Given the description of an element on the screen output the (x, y) to click on. 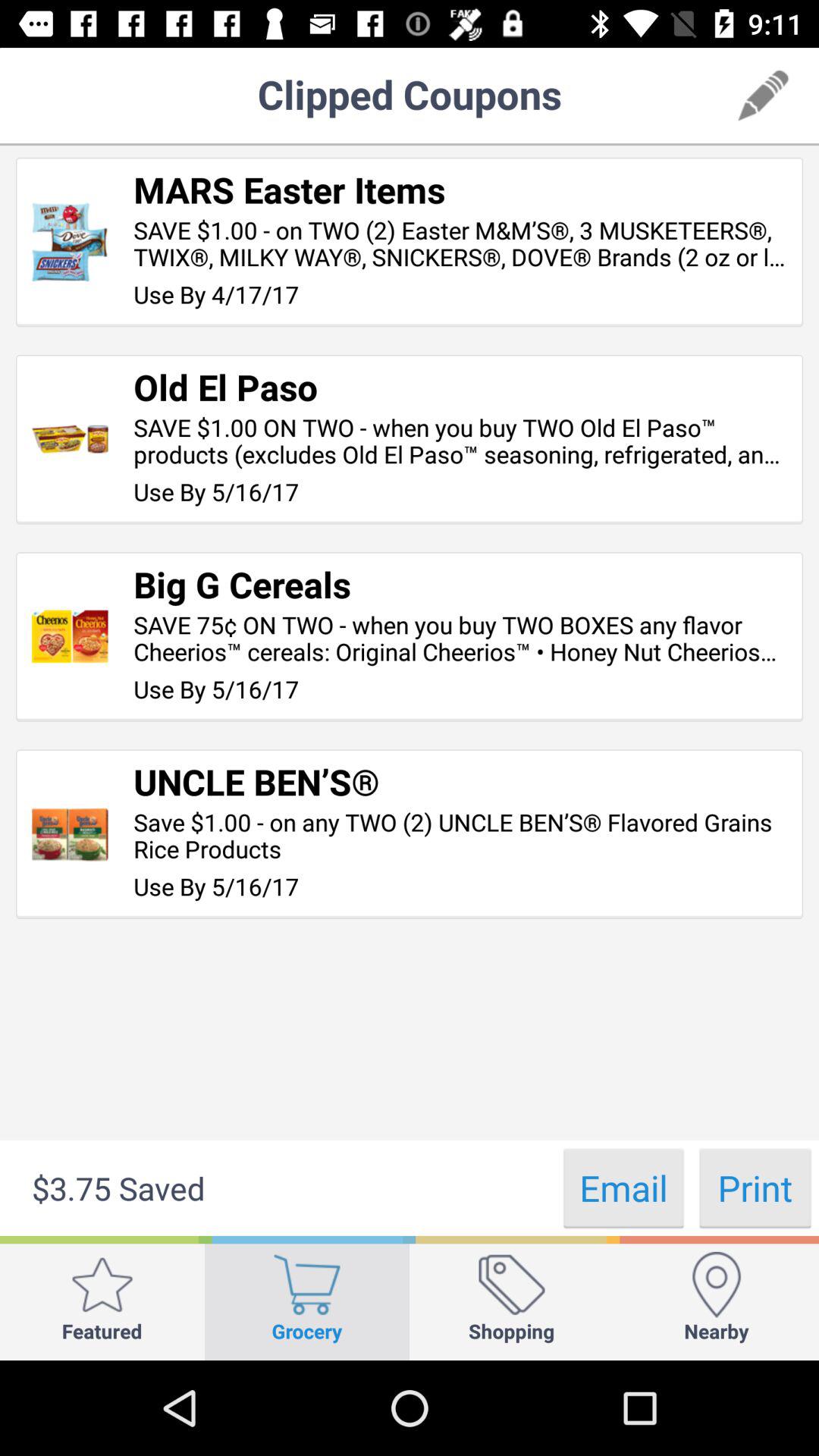
launch the app below use by 5 icon (623, 1187)
